Given the description of an element on the screen output the (x, y) to click on. 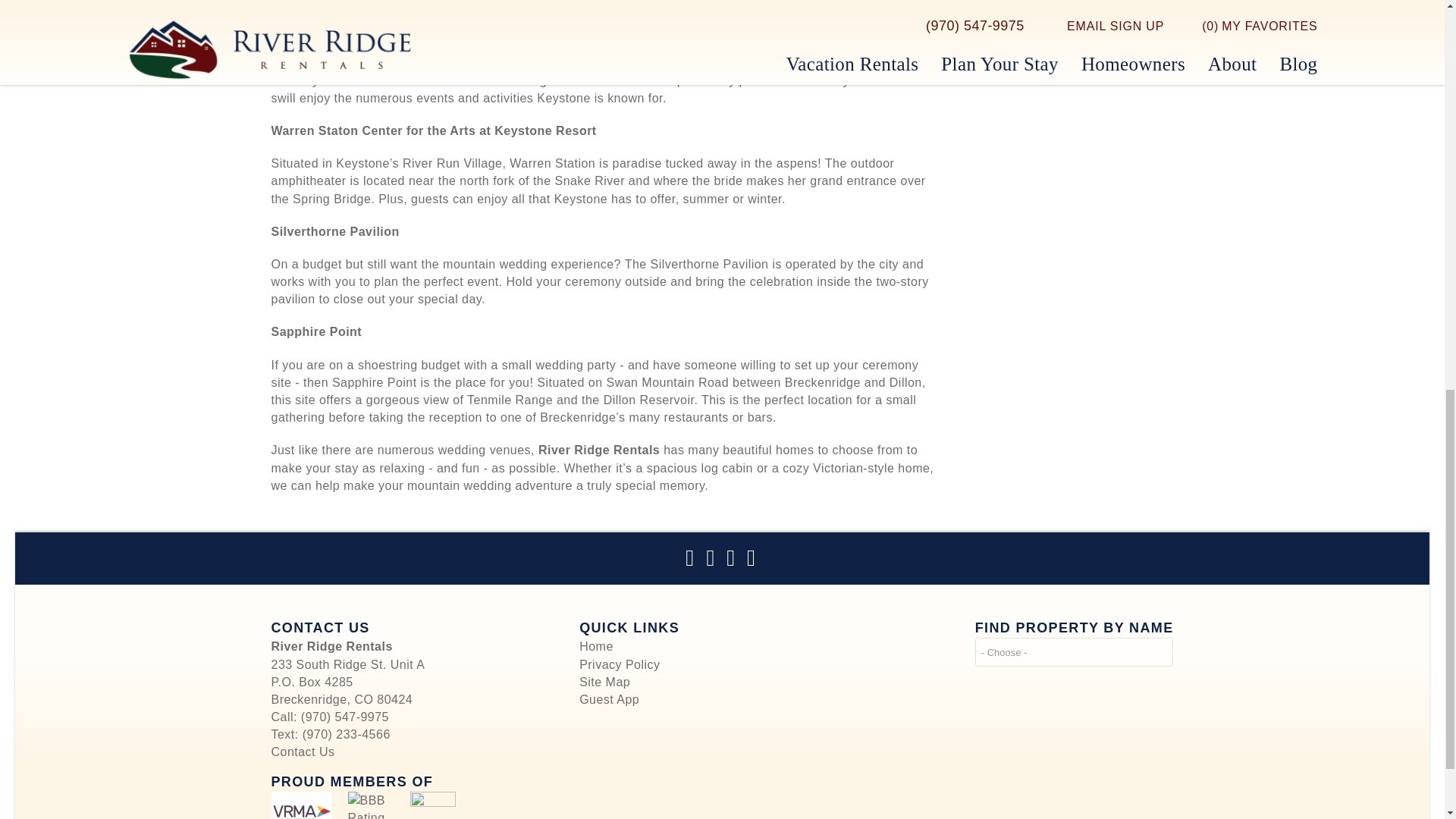
BBB Rating (370, 805)
Bluetent (431, 805)
